Given the description of an element on the screen output the (x, y) to click on. 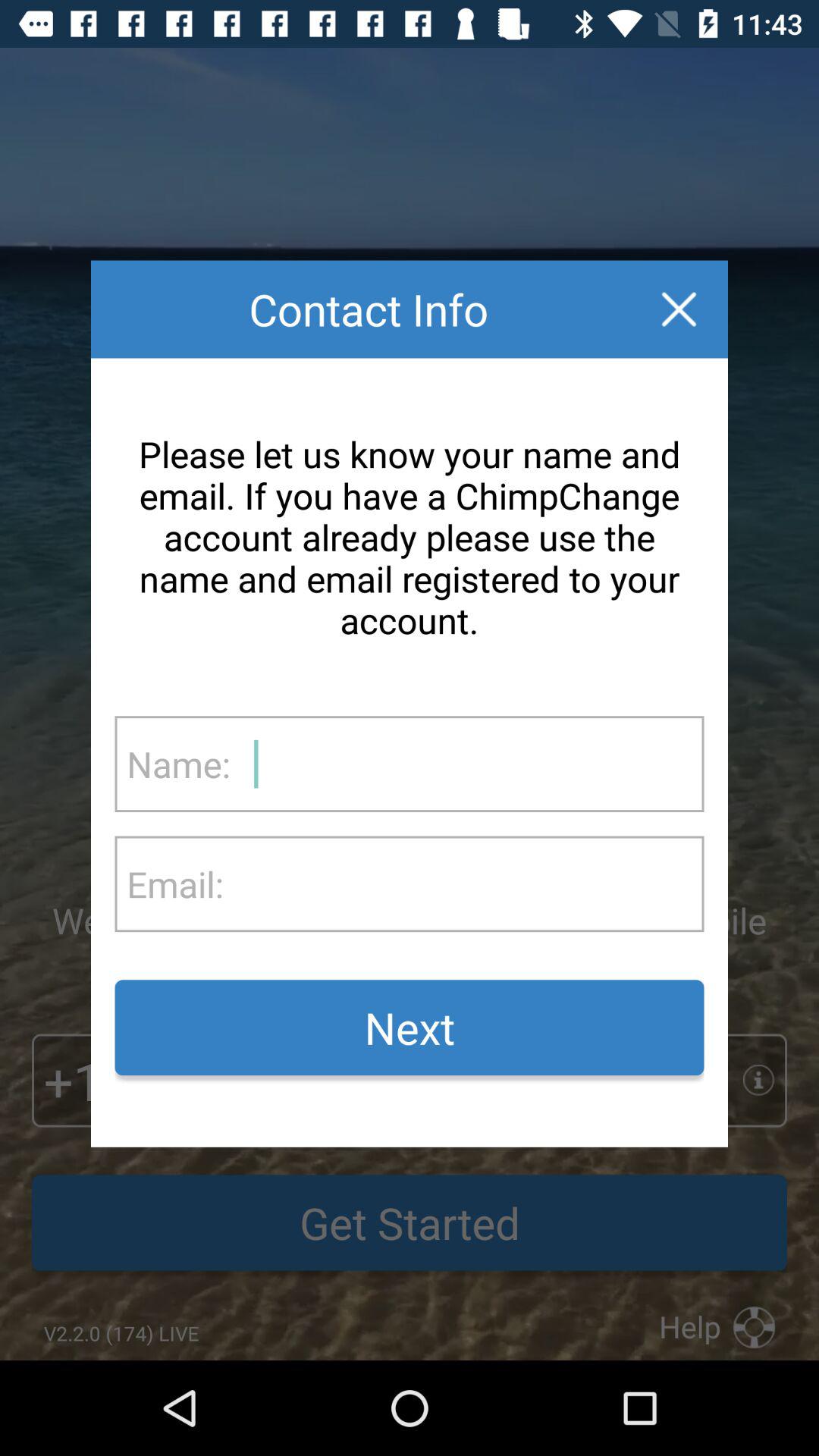
launch the app above the please let us (679, 309)
